Given the description of an element on the screen output the (x, y) to click on. 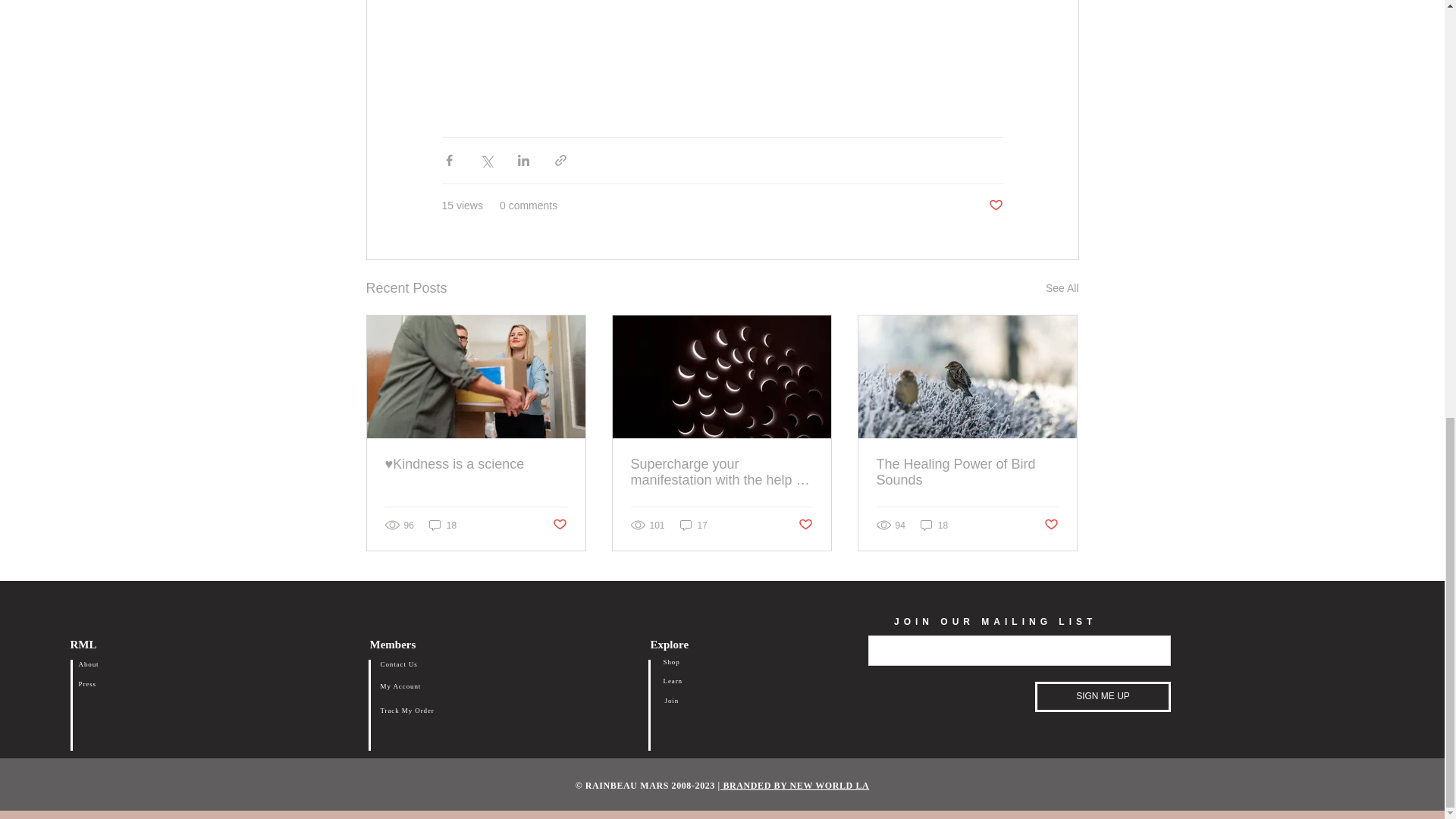
My Account (401, 686)
Shop (670, 661)
Post not marked as liked (804, 524)
Post not marked as liked (558, 524)
17 (693, 524)
About (88, 664)
18 (933, 524)
Post not marked as liked (1050, 524)
See All (1061, 288)
